Given the description of an element on the screen output the (x, y) to click on. 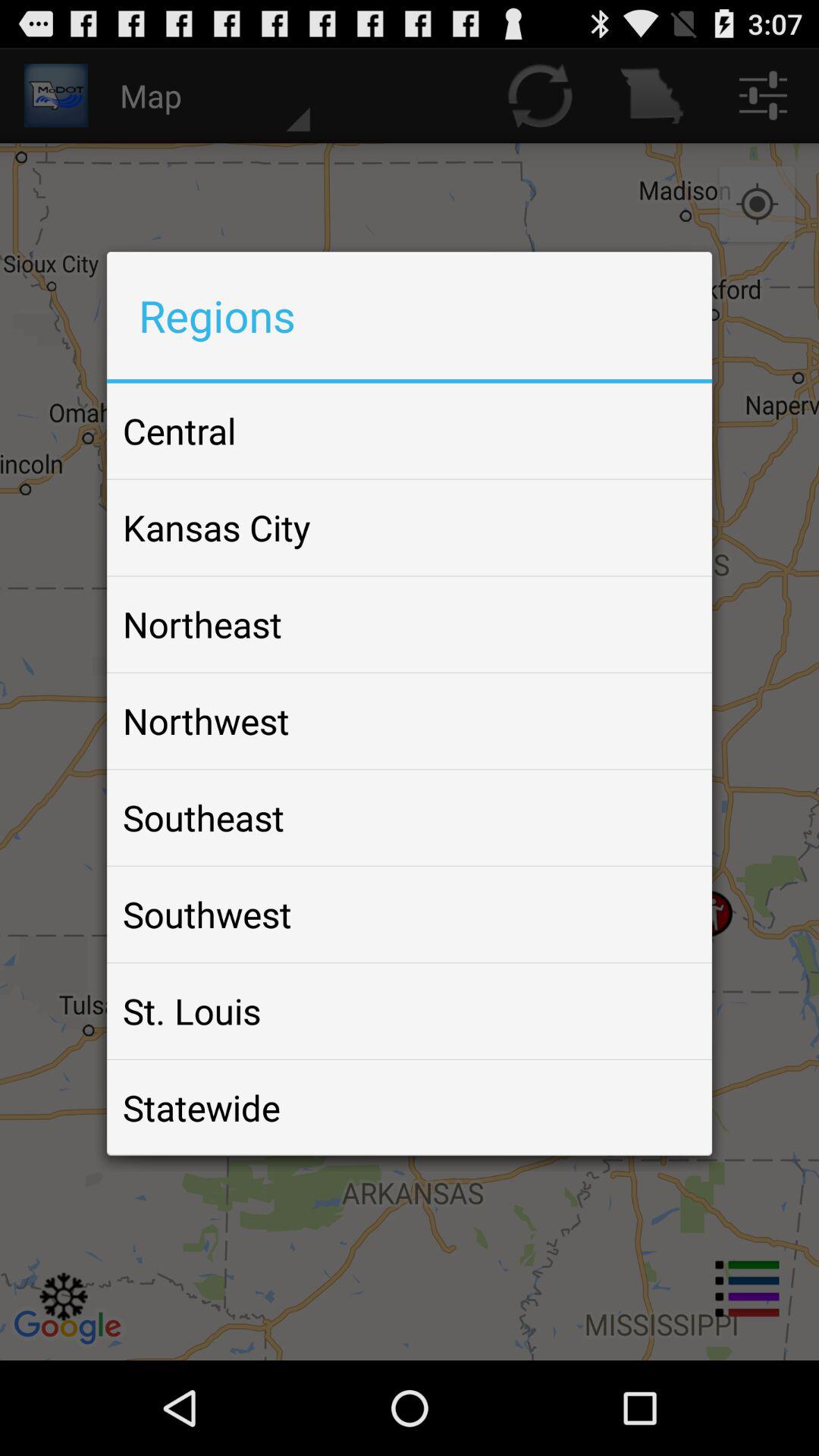
launch item to the right of southeast app (664, 817)
